Given the description of an element on the screen output the (x, y) to click on. 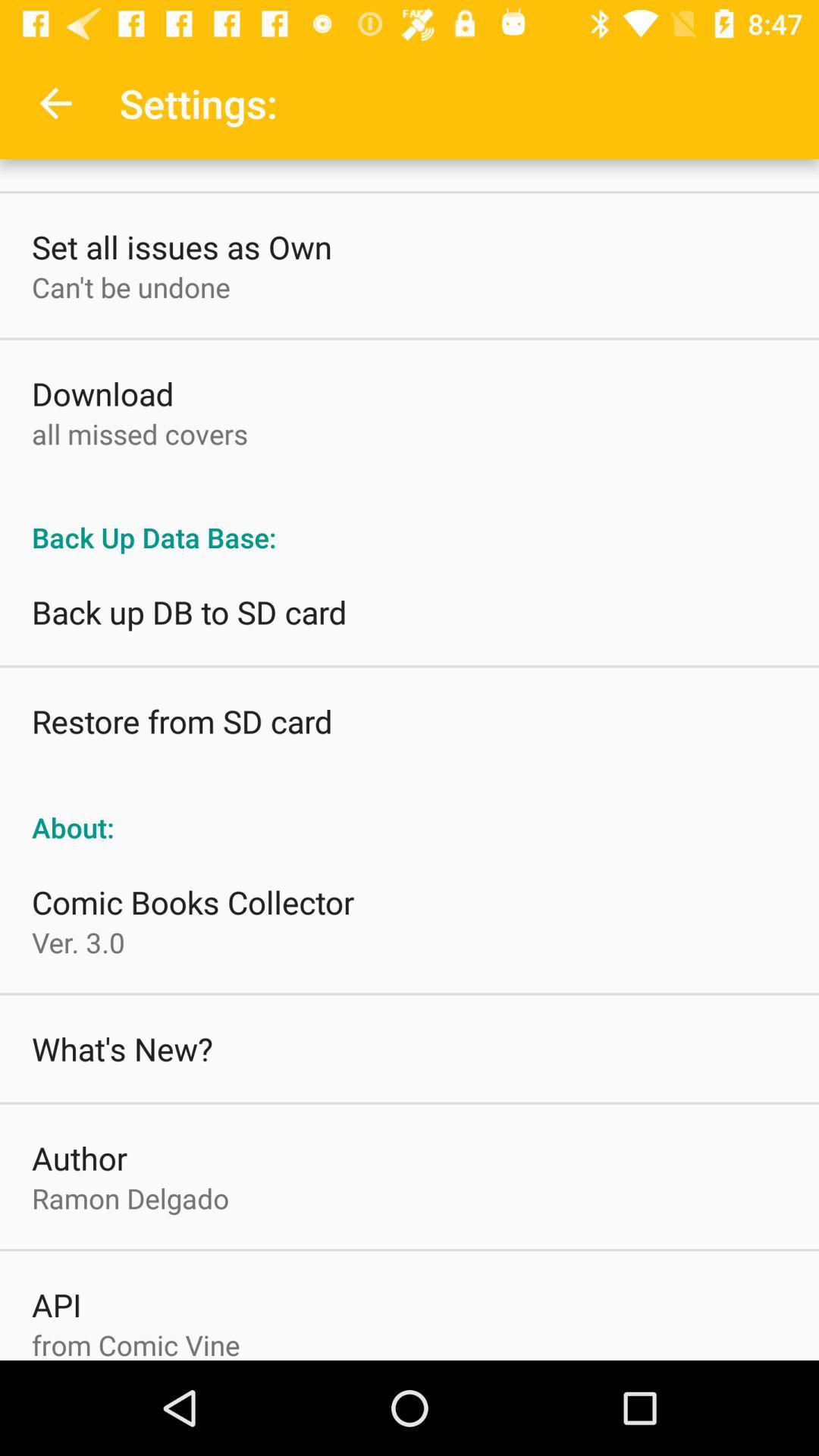
turn off the item above the from comic vine item (56, 1304)
